Given the description of an element on the screen output the (x, y) to click on. 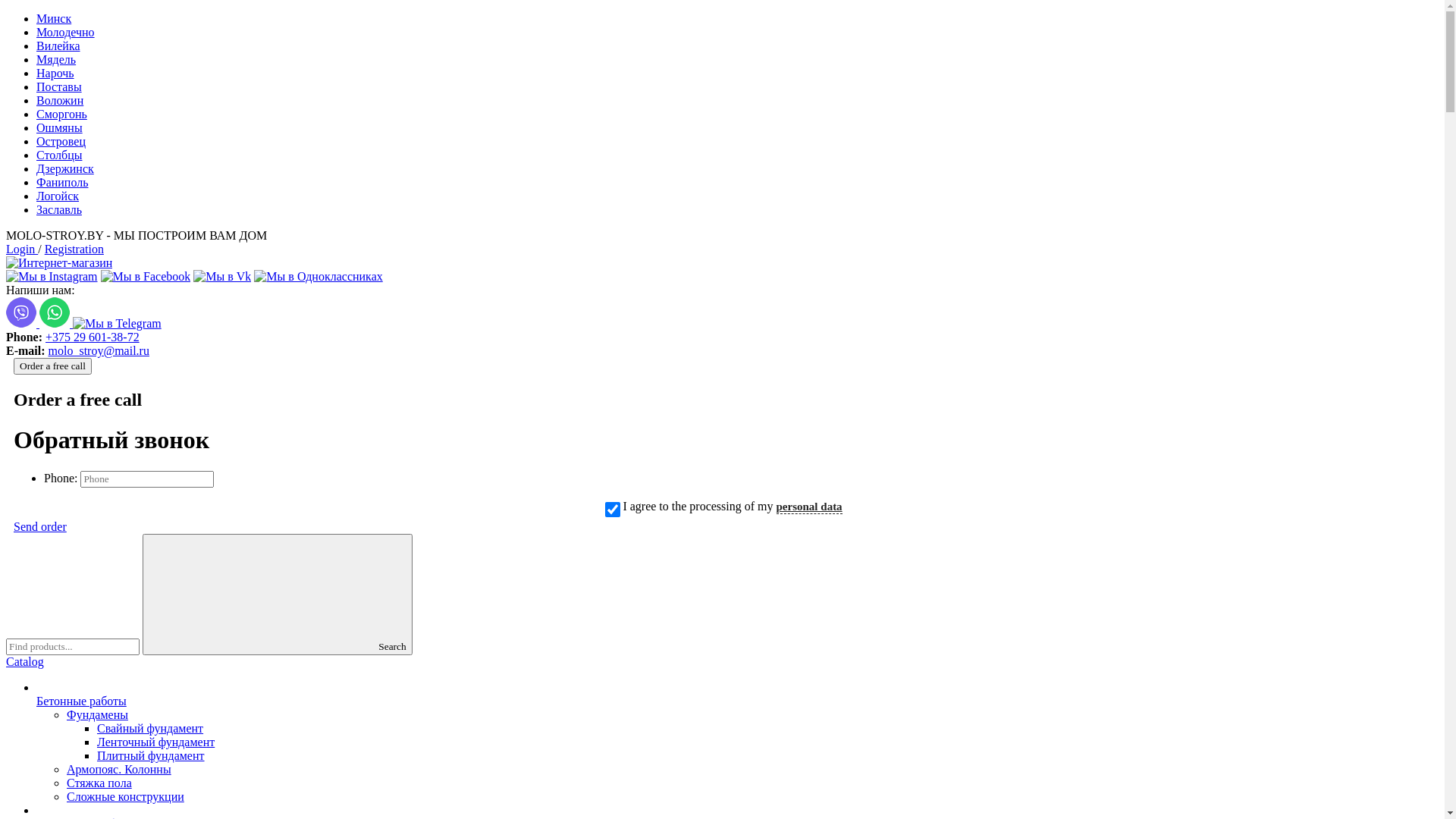
Order a free call Element type: text (52, 365)
molo_stroy@mail.ru Element type: text (98, 350)
Catalog Element type: text (24, 661)
+375 29 601-38-72 Element type: text (92, 336)
MOLO-STROY.BY Element type: hover (59, 262)
Search Element type: text (277, 594)
personal data Element type: text (809, 507)
Login Element type: text (21, 248)
Registration Element type: text (73, 248)
Send order Element type: text (721, 526)
